Given the description of an element on the screen output the (x, y) to click on. 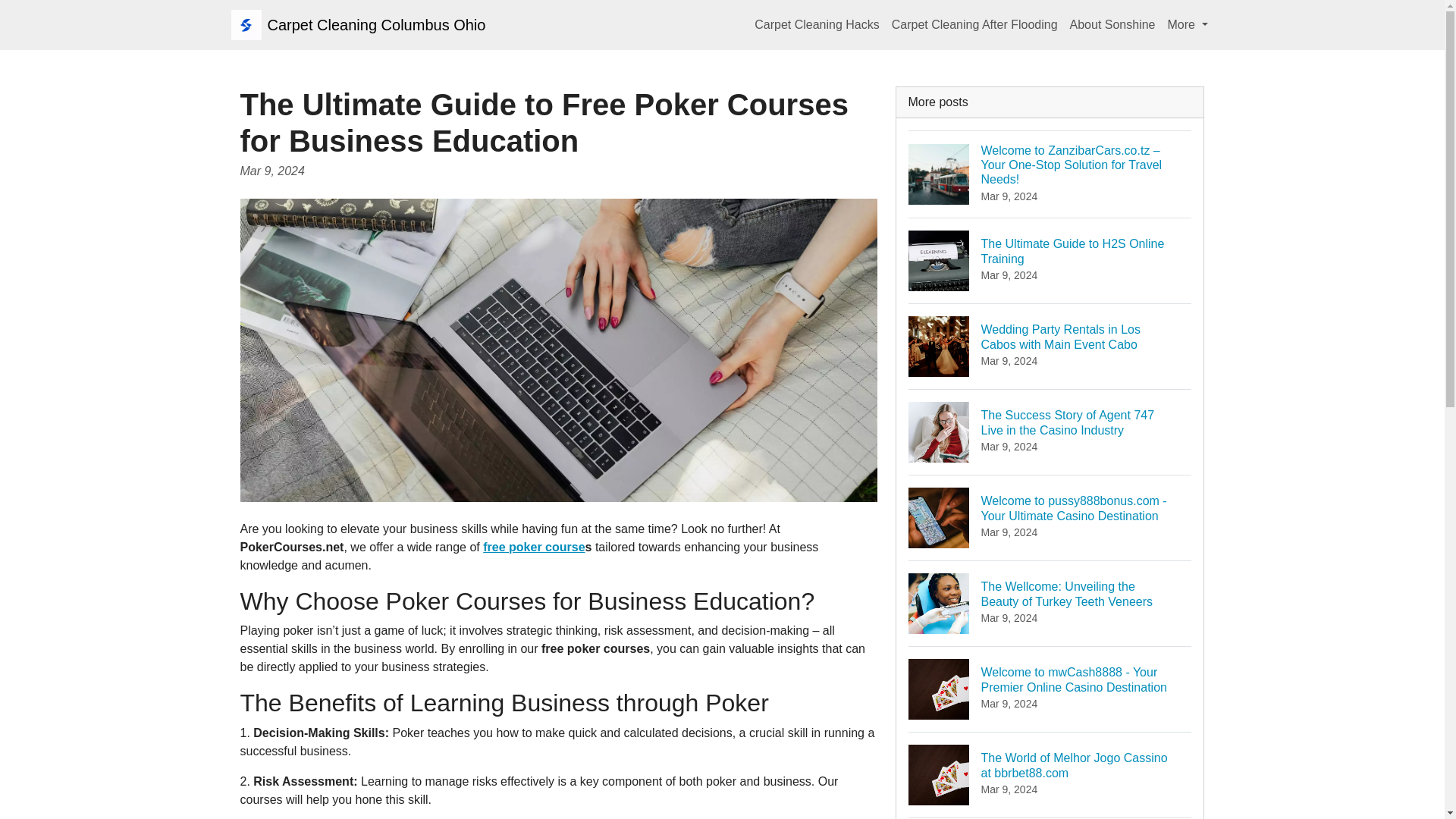
Carpet Cleaning Hacks (1050, 260)
More (816, 24)
Carpet Cleaning Columbus Ohio (1187, 24)
Carpet Cleaning After Flooding (1050, 774)
About Sonshine (357, 24)
free poker course (974, 24)
